Given the description of an element on the screen output the (x, y) to click on. 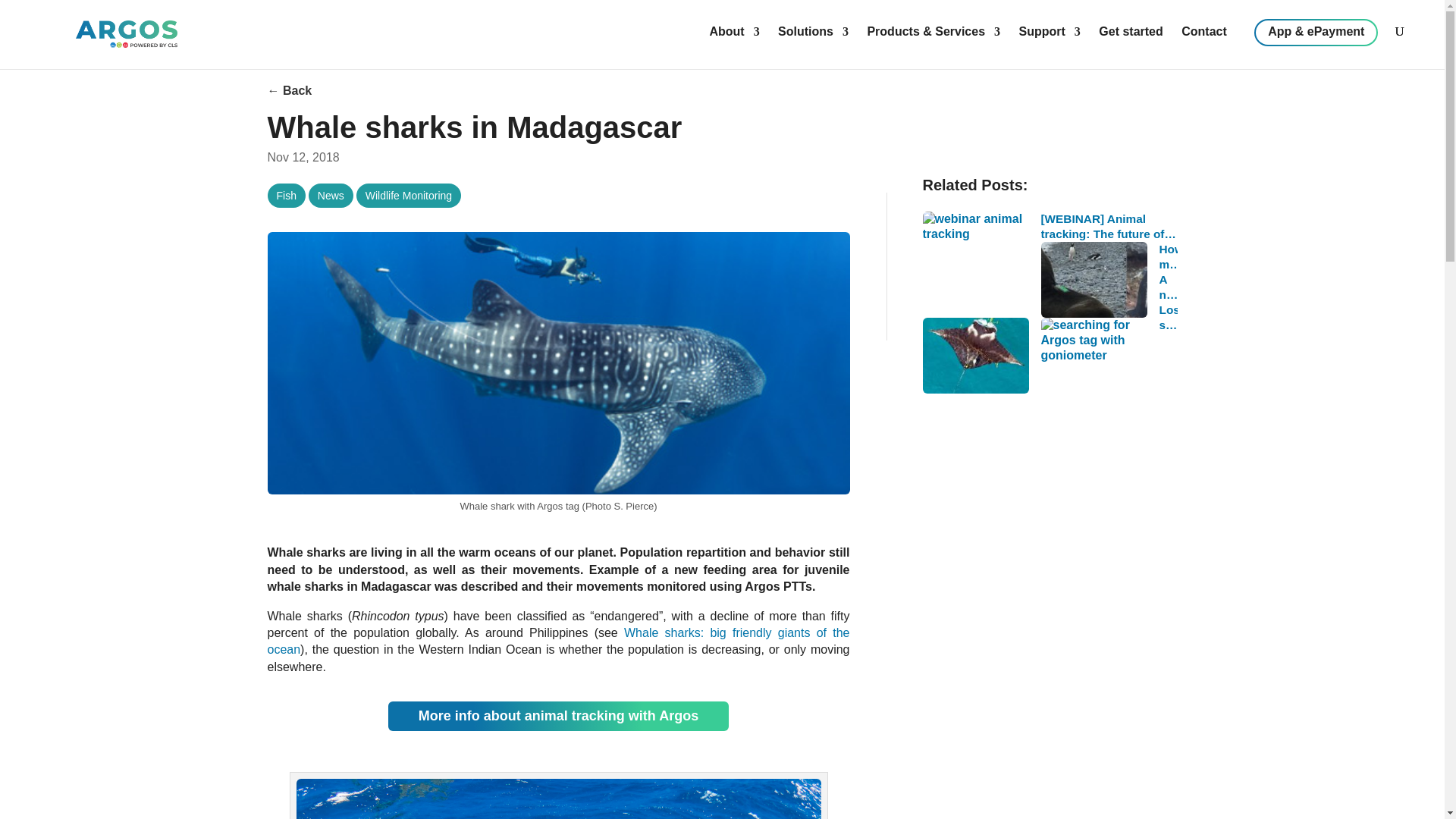
Support (1042, 39)
About (726, 39)
Solutions (805, 39)
A nursery for juvenile reef manta rays (1048, 286)
